Given the description of an element on the screen output the (x, y) to click on. 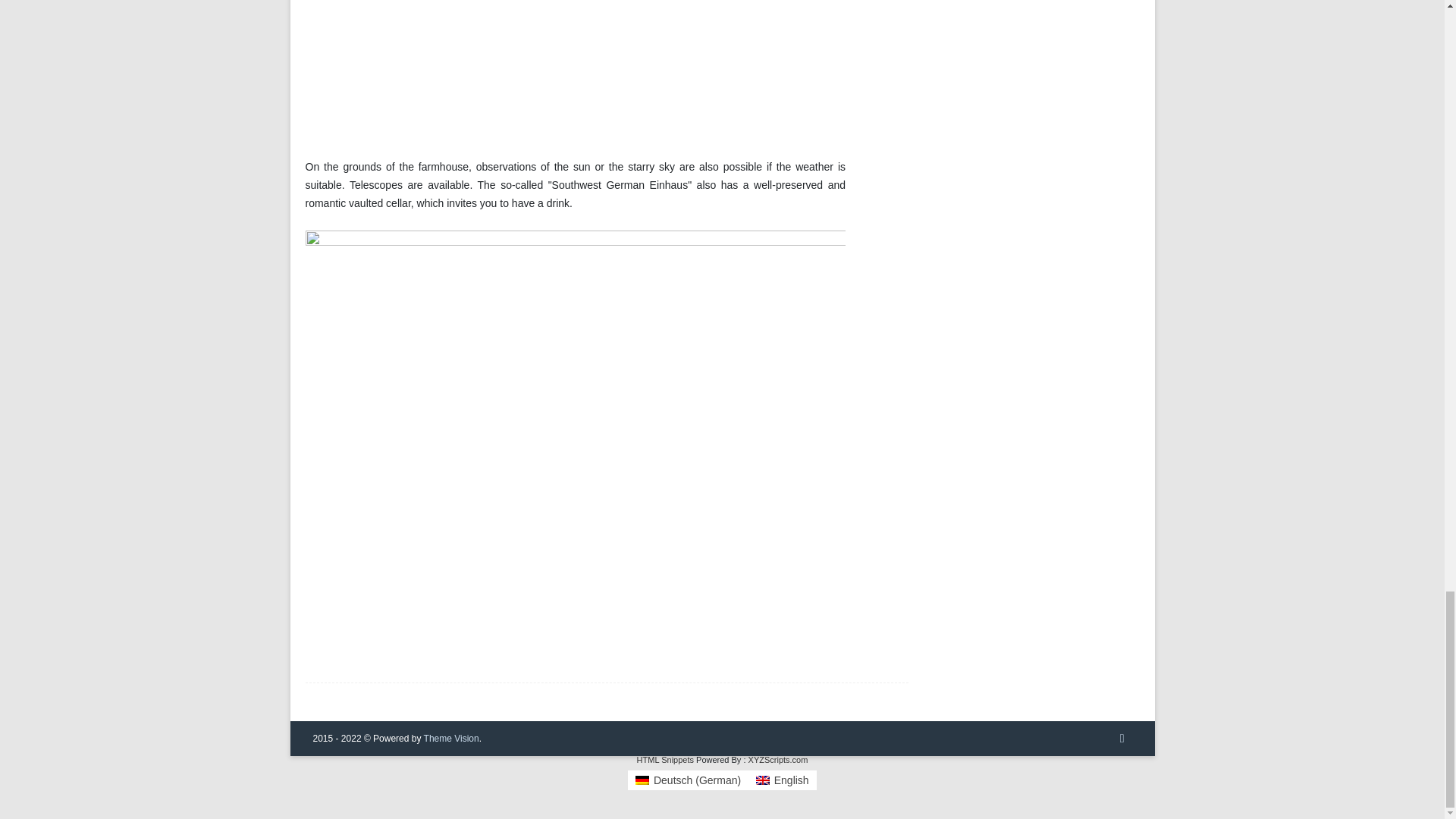
Insert HTML Snippet Wordpress Plugin (665, 759)
